Given the description of an element on the screen output the (x, y) to click on. 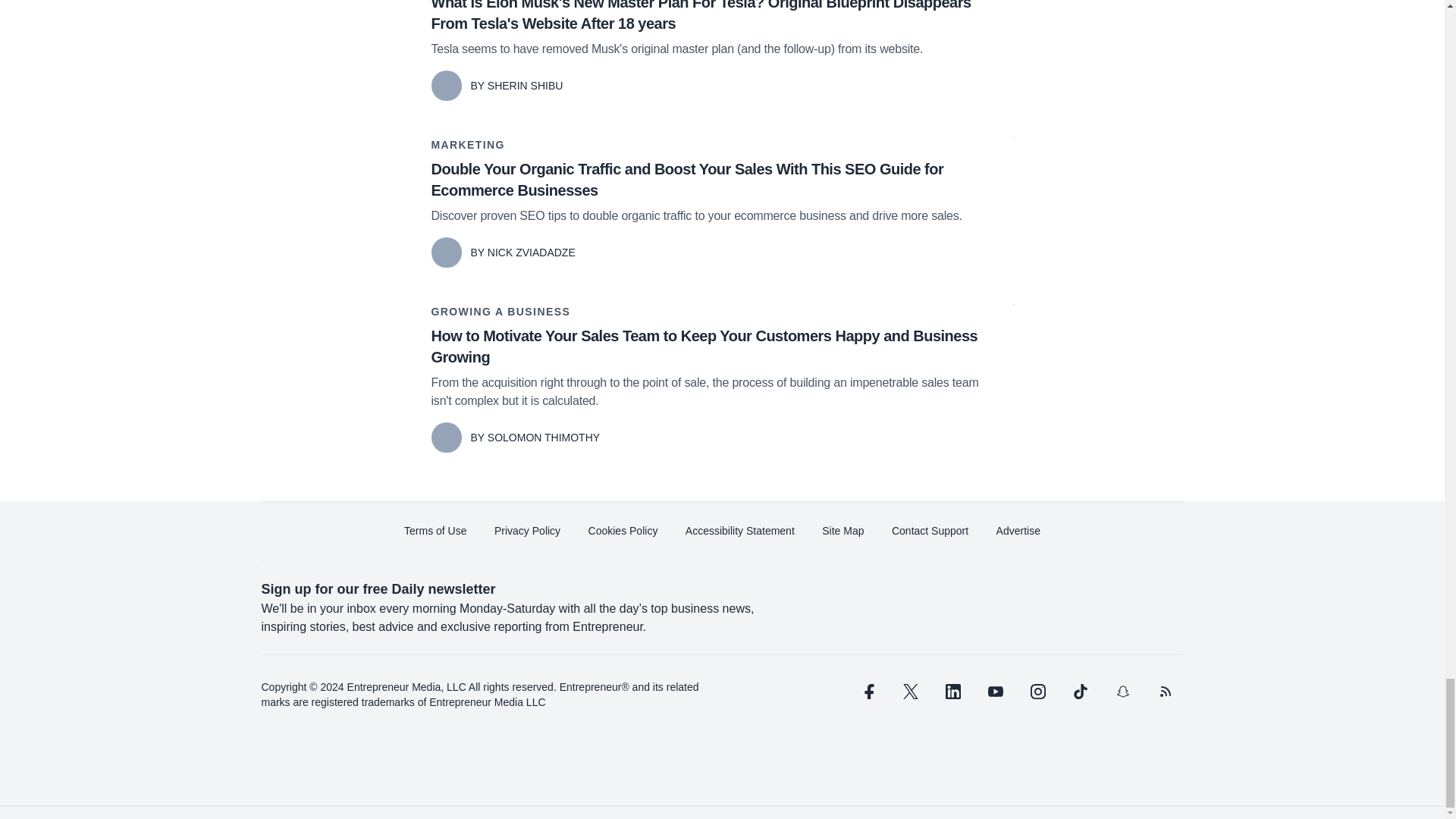
twitter (909, 691)
tiktok (1079, 691)
instagram (1037, 691)
linkedin (952, 691)
youtube (994, 691)
snapchat (1121, 691)
facebook (866, 691)
